Given the description of an element on the screen output the (x, y) to click on. 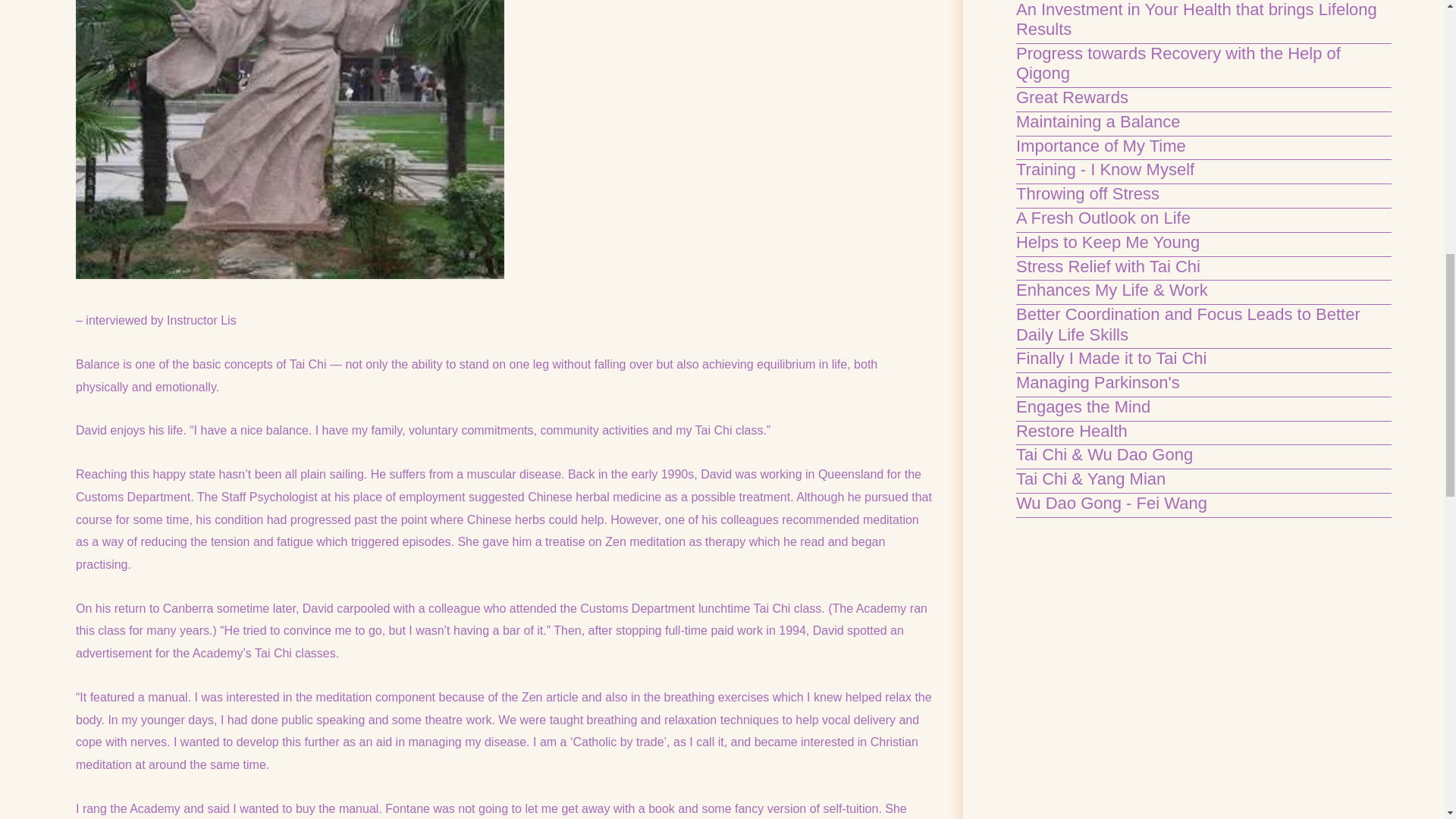
Progress towards Recovery with the Help of Qigong (1178, 63)
An Investment in Your Health that brings Lifelong Results (1196, 19)
Stress Relief with Tai Chi (1107, 266)
Managing Parkinson's (1097, 382)
Restore Health (1071, 430)
Engages the Mind (1083, 406)
Importance of My Time (1101, 145)
Wu Dao Gong - Fei Wang (1111, 502)
Great Rewards (1072, 97)
Maintaining a Balance (1097, 121)
